Given the description of an element on the screen output the (x, y) to click on. 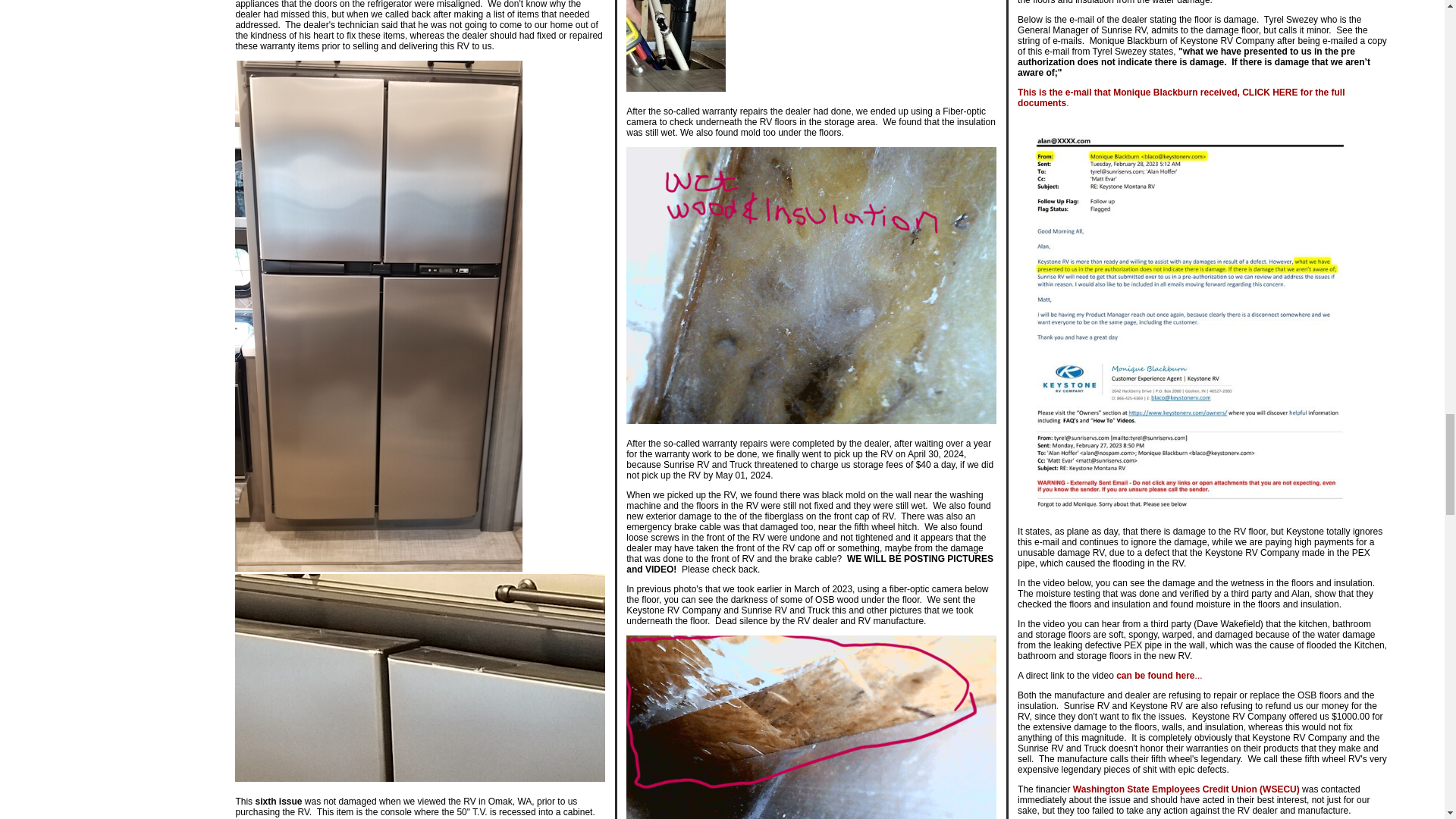
can be found here... (1159, 675)
